Given the description of an element on the screen output the (x, y) to click on. 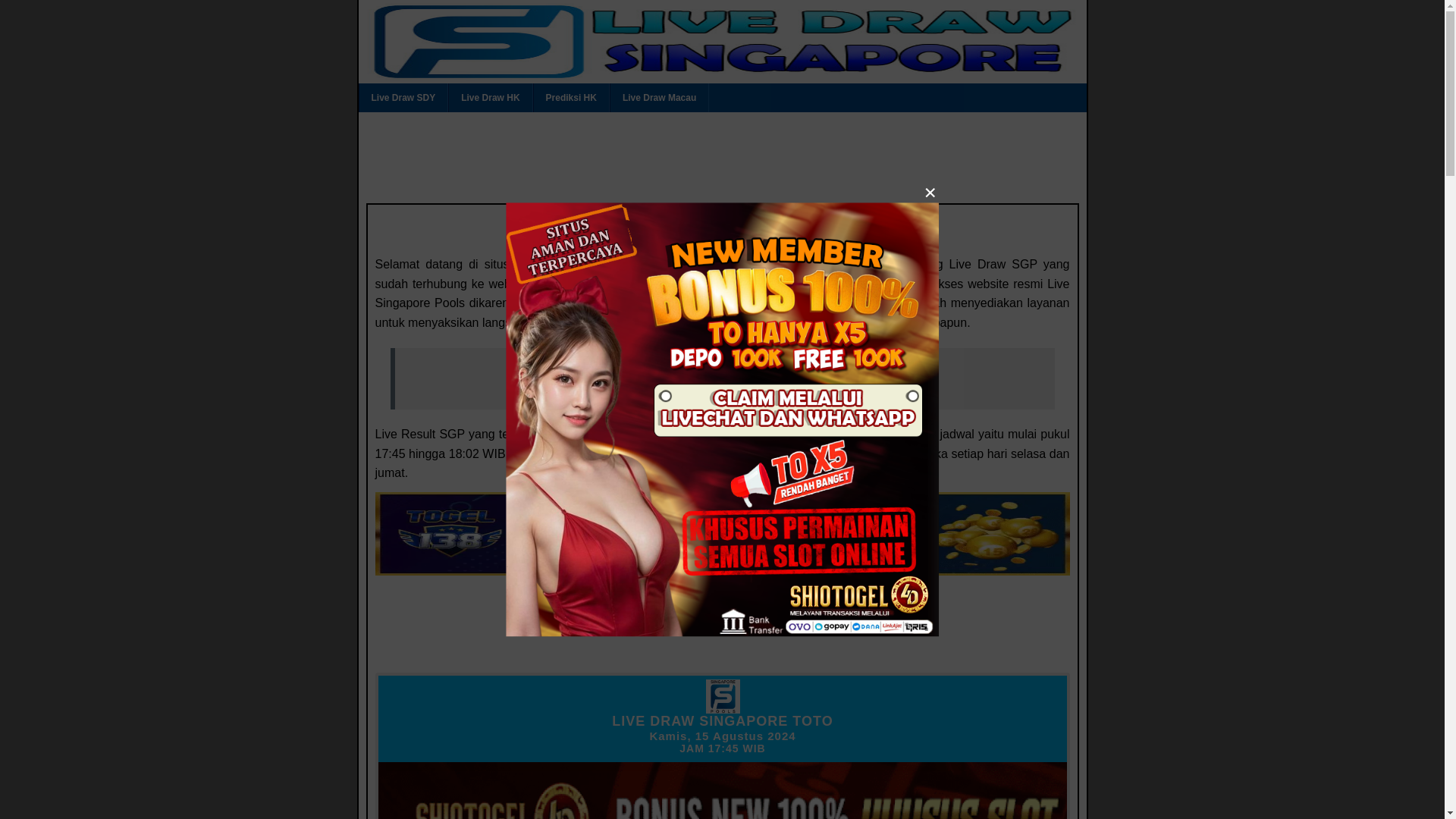
Live Draw SDY (403, 97)
Live Draw SDY (403, 97)
Live Draw HK (489, 97)
Prediksi HK (571, 97)
Prediksi HK (571, 97)
Live Draw HK (489, 97)
Live Draw Singapore (725, 381)
Live Draw Macau (658, 97)
Live Draw Macau (658, 97)
Live Draw Singapore (723, 381)
